Given the description of an element on the screen output the (x, y) to click on. 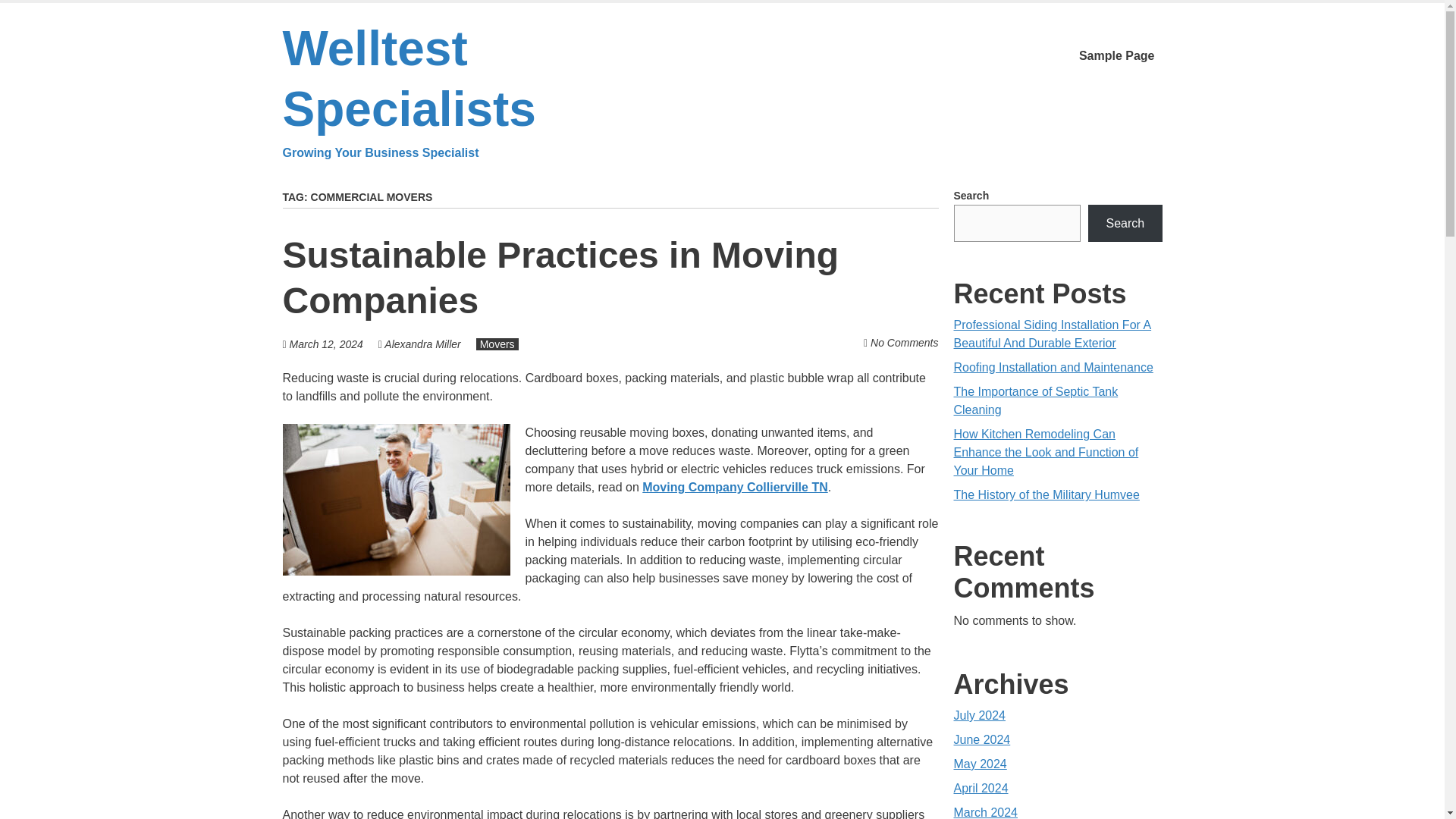
Search (1124, 222)
Sustainable Practices in Moving Companies (560, 278)
Alexandra Miller (422, 344)
April 2024 (981, 788)
May 2024 (980, 763)
Sample Page (1116, 55)
March 12, 2024 (325, 344)
July 2024 (979, 715)
Movers (497, 344)
June 2024 (981, 739)
March 2024 (985, 812)
The Importance of Septic Tank Cleaning (1035, 400)
Permalink to Sustainable Practices in Moving Companies (560, 278)
